Given the description of an element on the screen output the (x, y) to click on. 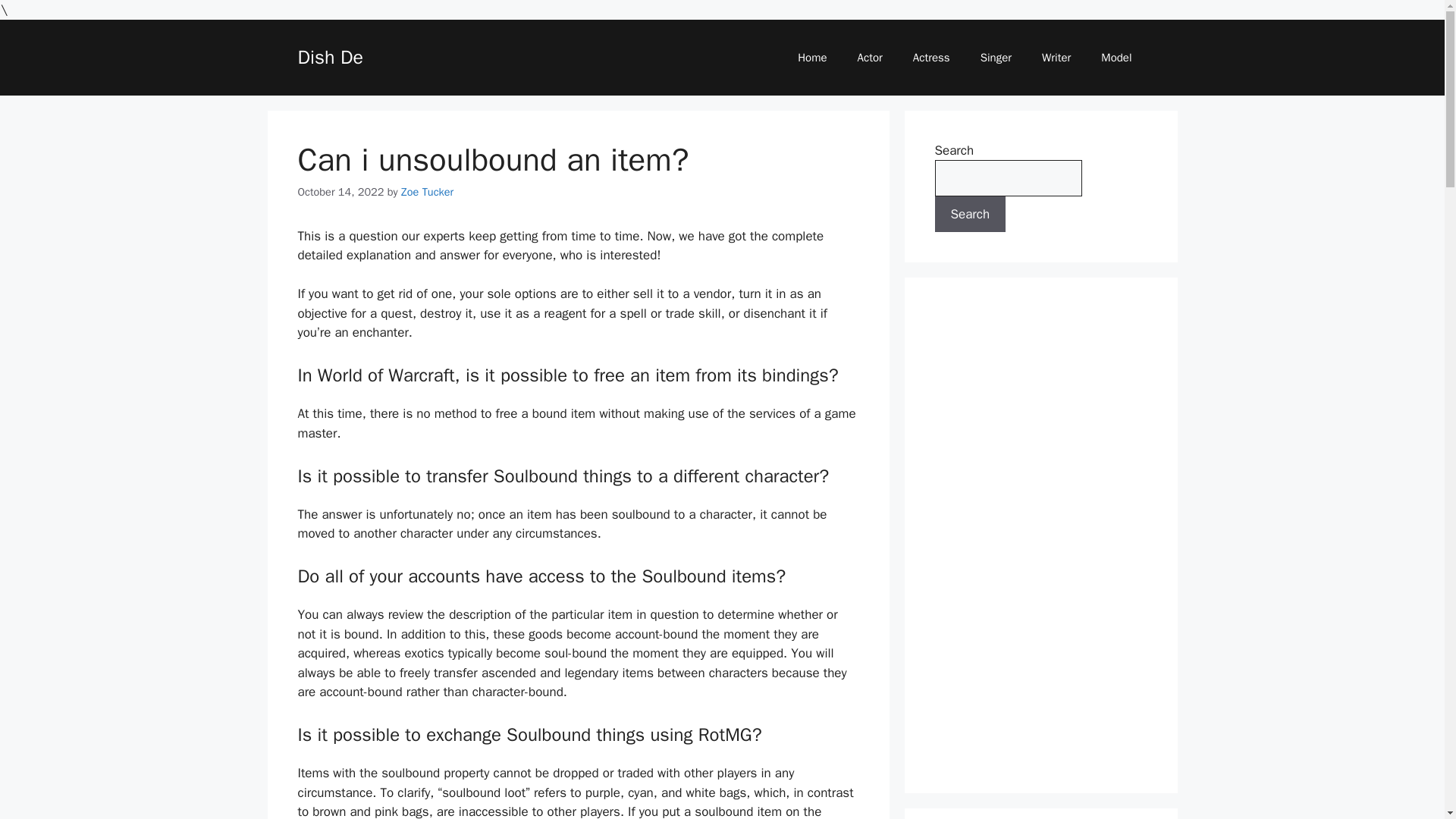
Zoe Tucker (426, 192)
Actress (931, 57)
Home (812, 57)
Singer (995, 57)
Search (970, 213)
Model (1116, 57)
Dish De (329, 56)
View all posts by Zoe Tucker (426, 192)
Writer (1056, 57)
Actor (870, 57)
